Given the description of an element on the screen output the (x, y) to click on. 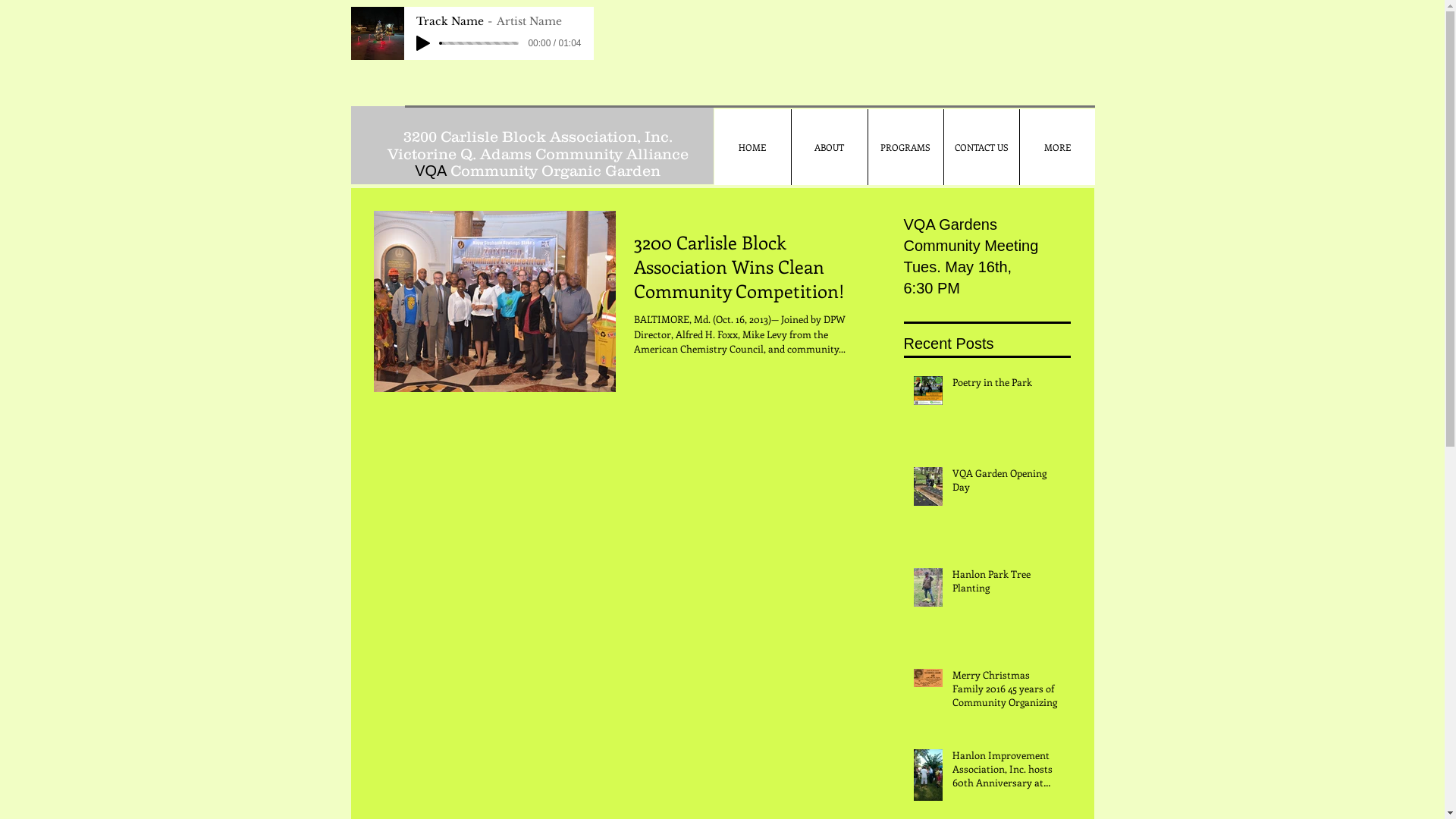
VQA Garden Opening Day Element type: text (1006, 482)
Hanlon Park Tree Planting Element type: text (1006, 583)
Poetry in the Park Element type: text (1006, 385)
HOME Element type: text (752, 147)
PROGRAMS Element type: text (905, 147)
CONTACT US Element type: text (981, 147)
Merry Christmas Family 2016 45 years of Community Organizing Element type: text (1006, 691)
ABOUT Element type: text (828, 147)
